Given the description of an element on the screen output the (x, y) to click on. 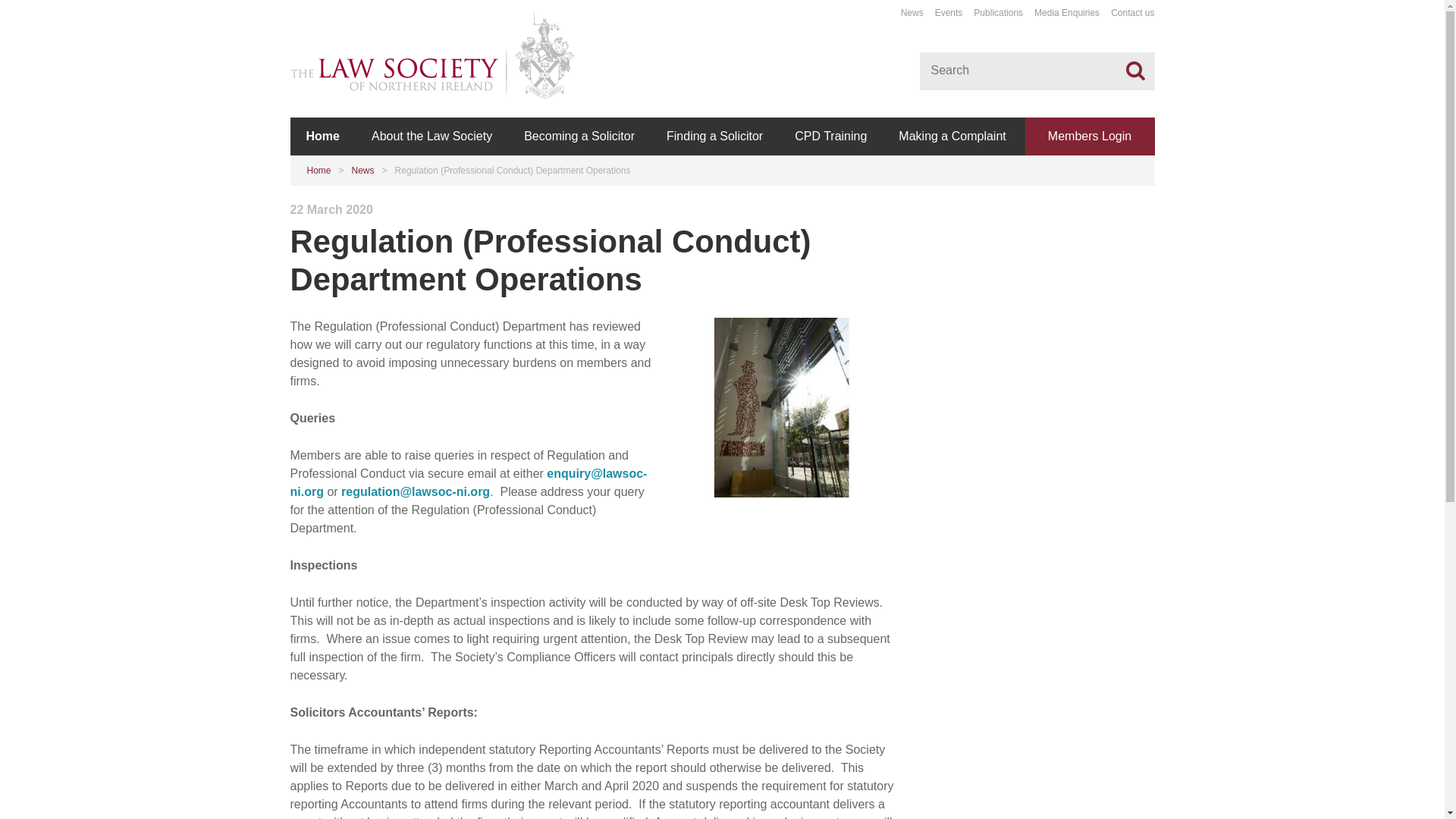
About the Law Society (431, 136)
News (363, 170)
Home (317, 170)
Members Login (1089, 136)
LSNI (780, 407)
Becoming a Solicitor (579, 136)
Media Enquiries (1066, 12)
Home (322, 136)
Contact us (1132, 12)
News (912, 12)
